Given the description of an element on the screen output the (x, y) to click on. 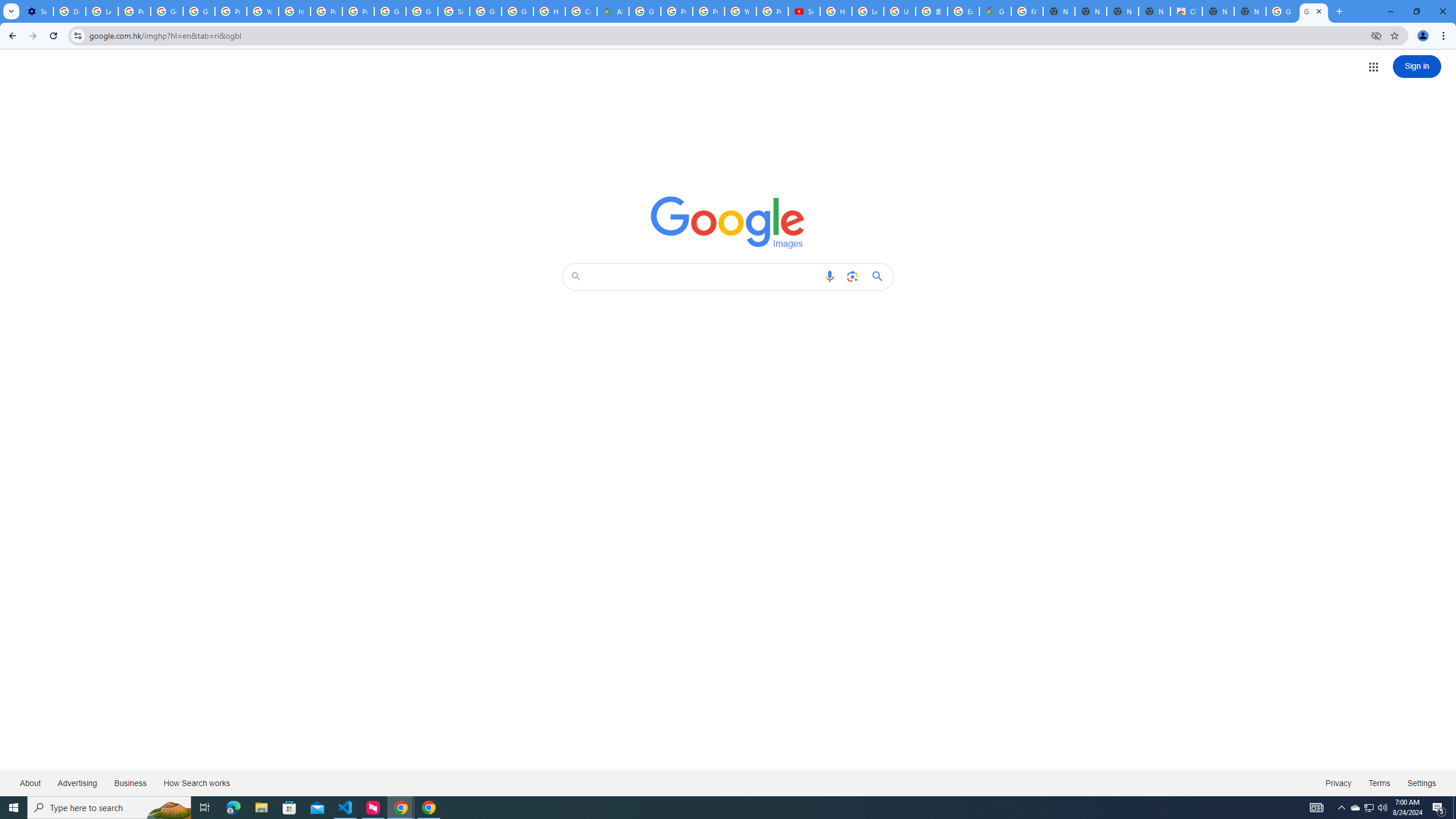
Advertising (77, 782)
Google Search (880, 276)
YouTube (740, 11)
Sign in - Google Accounts (453, 11)
New Tab (1249, 11)
